Given the description of an element on the screen output the (x, y) to click on. 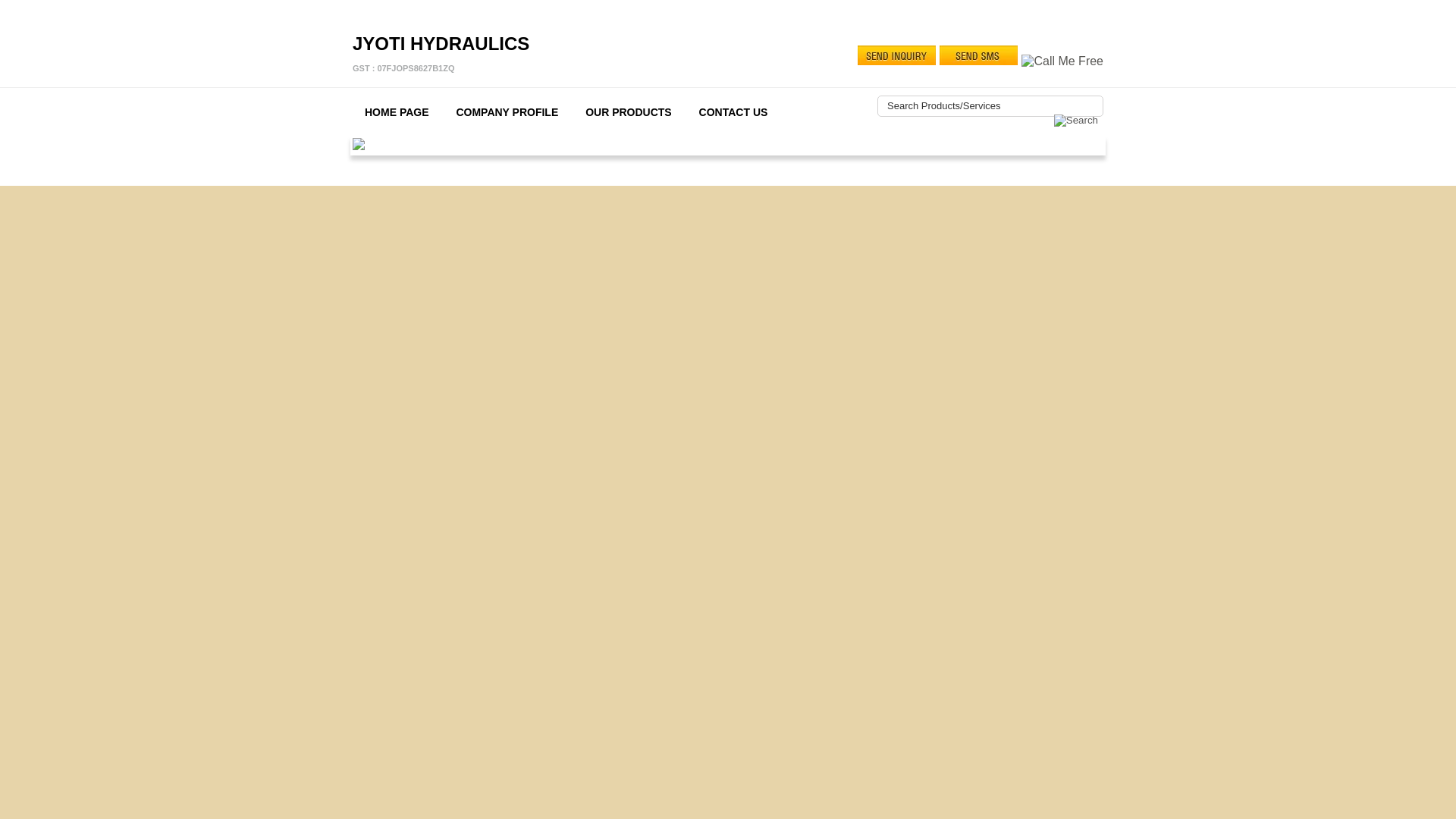
submit (1075, 120)
submit (1075, 120)
OUR PRODUCTS (440, 54)
CONTACT US (628, 111)
COMPANY PROFILE (733, 111)
HOME PAGE (507, 111)
